Given the description of an element on the screen output the (x, y) to click on. 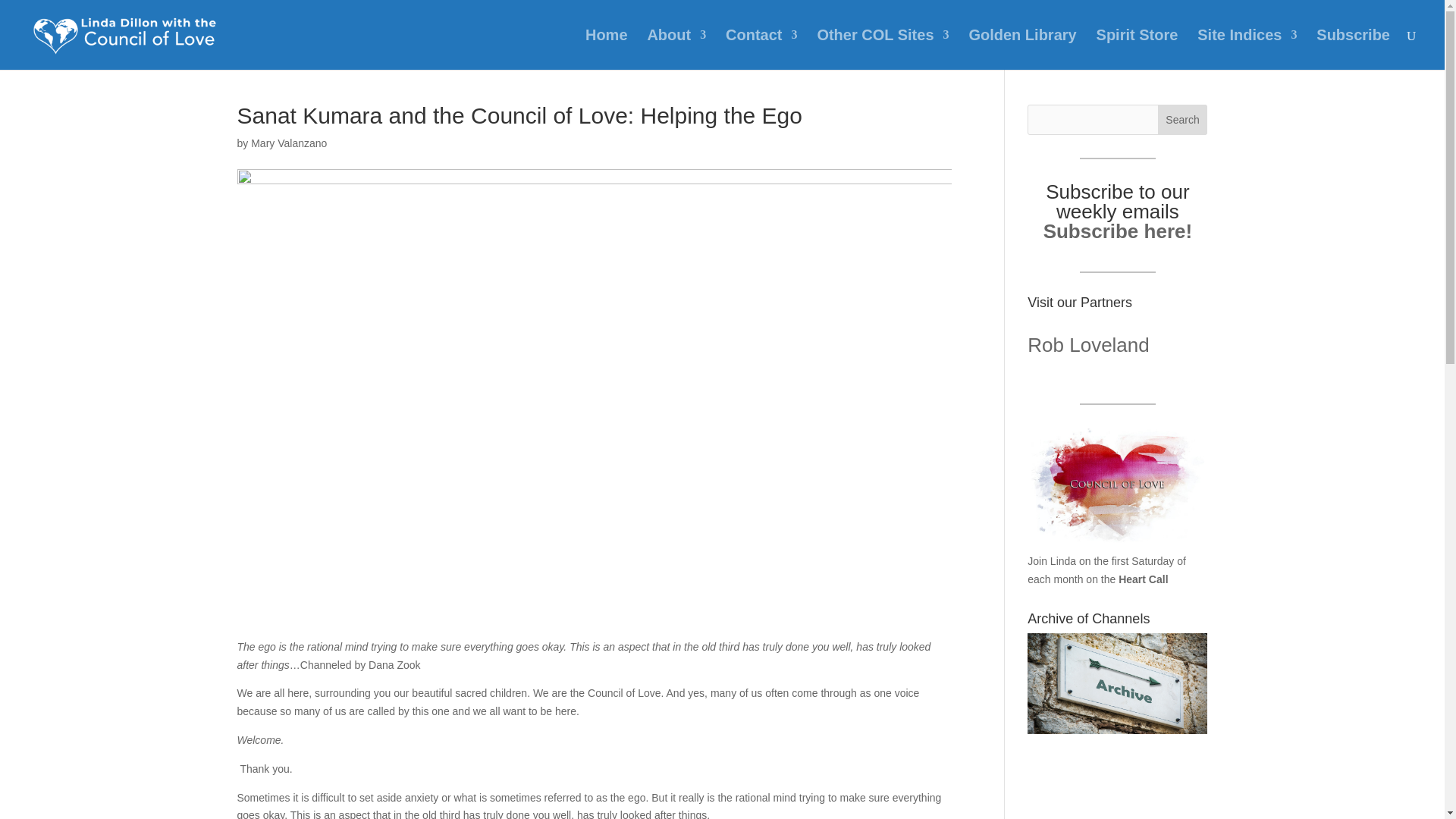
Contact (760, 49)
Subscribe (1353, 49)
Posts by Mary Valanzano (288, 143)
Other COL Sites (882, 49)
Golden Library (1021, 49)
About (676, 49)
Site Indices (1246, 49)
Home (606, 49)
Spirit Store (1136, 49)
